Given the description of an element on the screen output the (x, y) to click on. 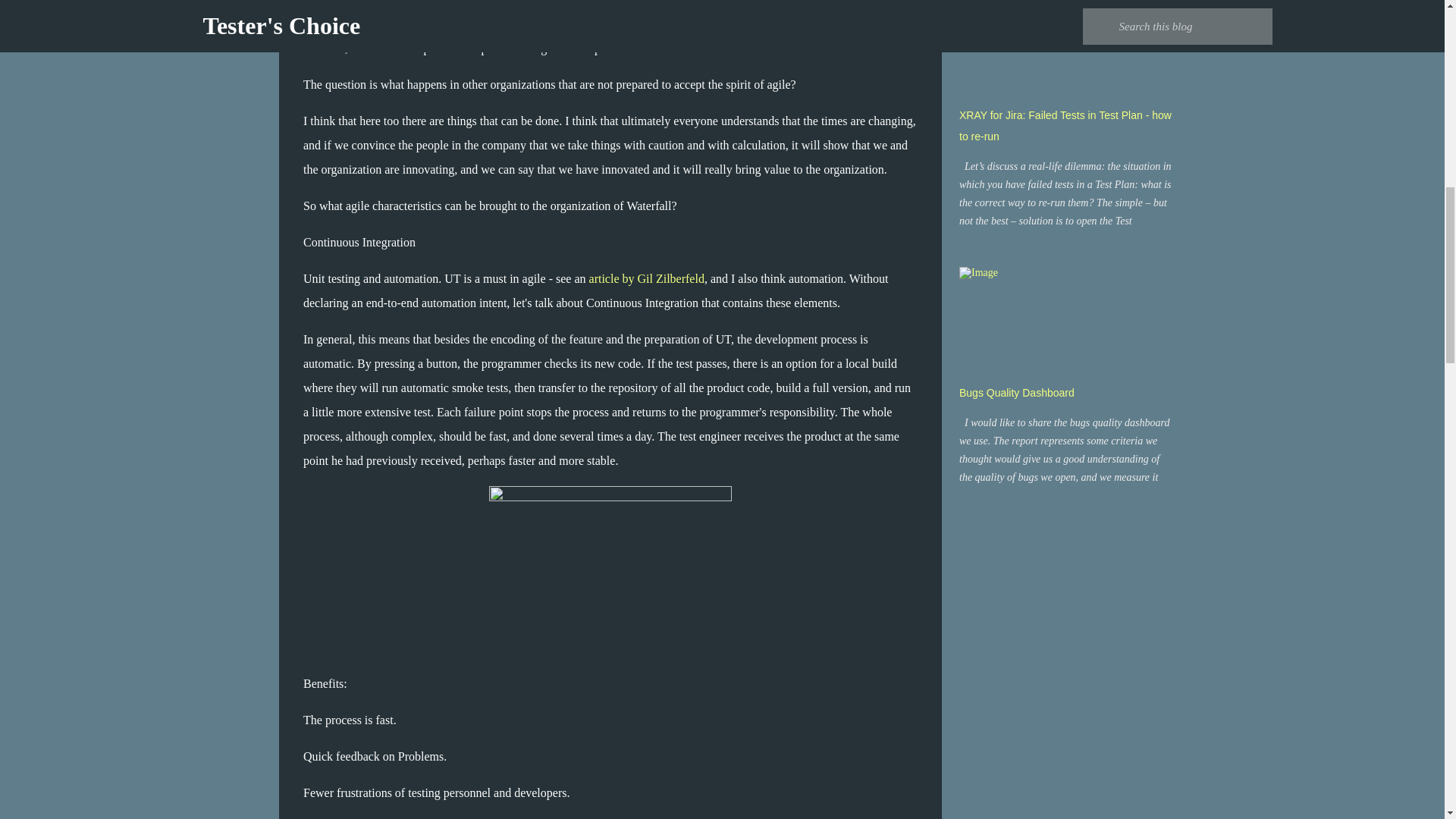
XRAY for Jira: Failed Tests in Test Plan - how to re-run (1065, 125)
article by Gil Zilberfeld (646, 278)
Bugs Quality Dashboard (1016, 392)
